Given the description of an element on the screen output the (x, y) to click on. 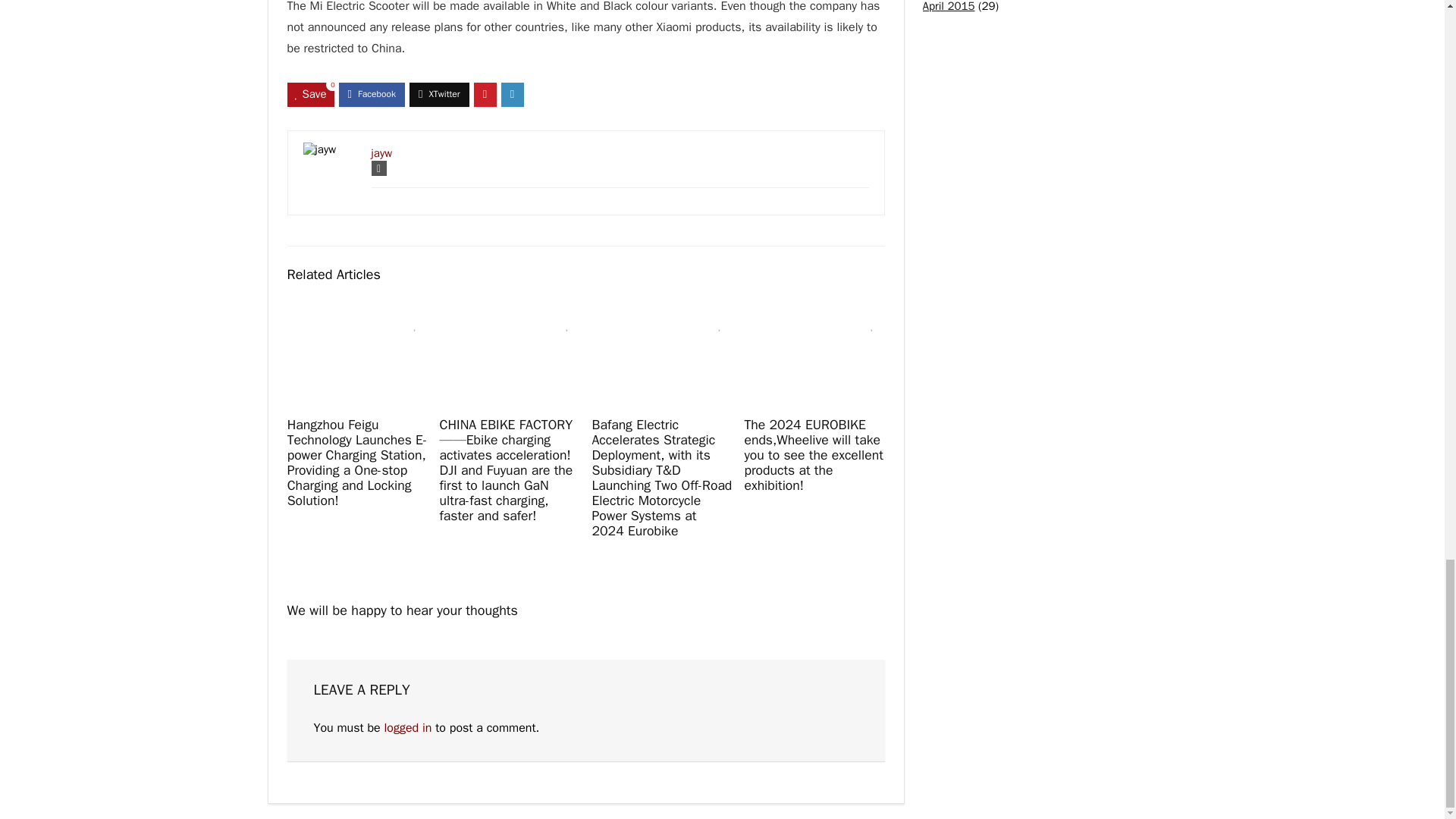
jayw (382, 152)
logged in (407, 727)
